Given the description of an element on the screen output the (x, y) to click on. 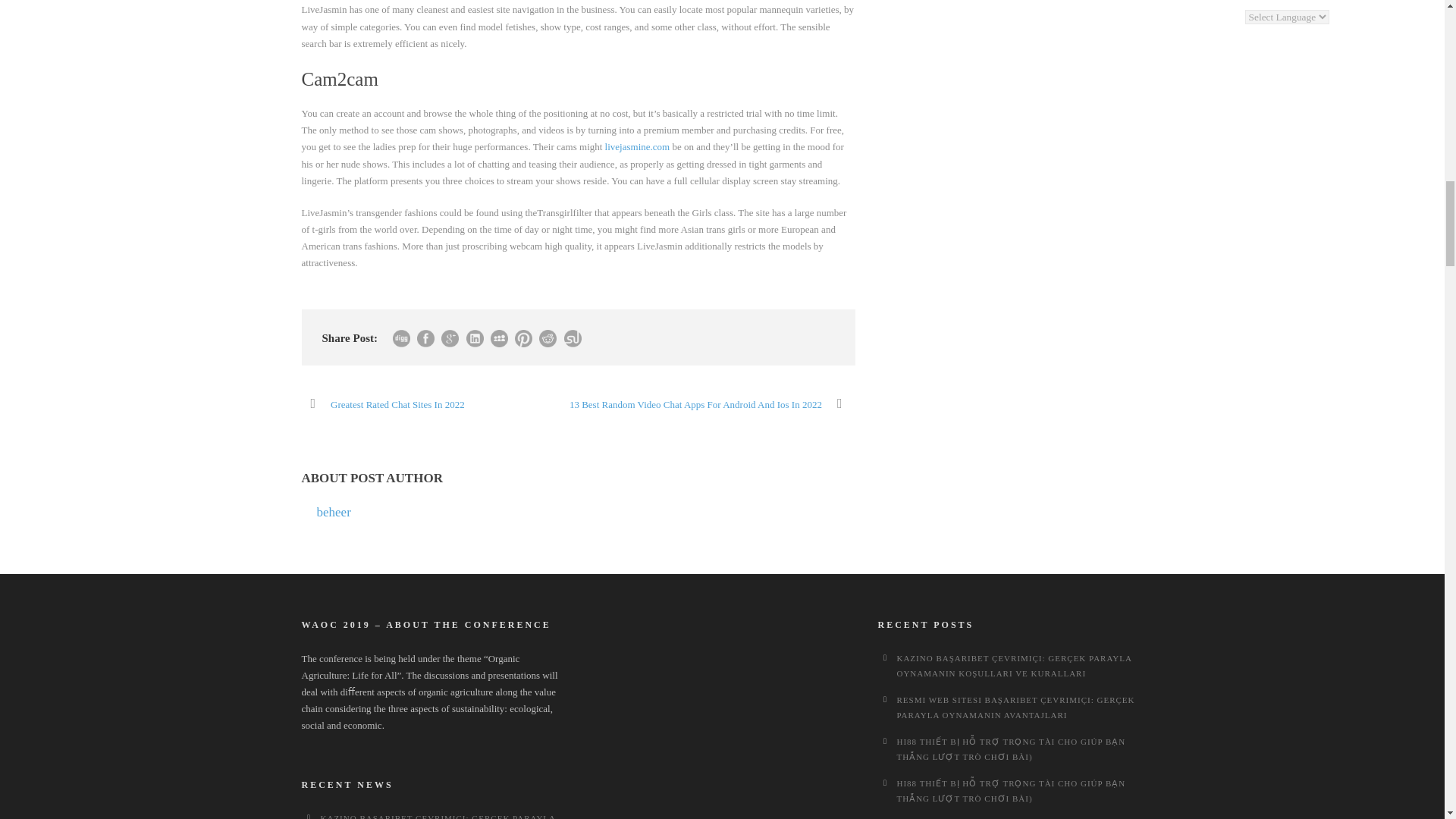
Posts by beheer (333, 512)
